Given the description of an element on the screen output the (x, y) to click on. 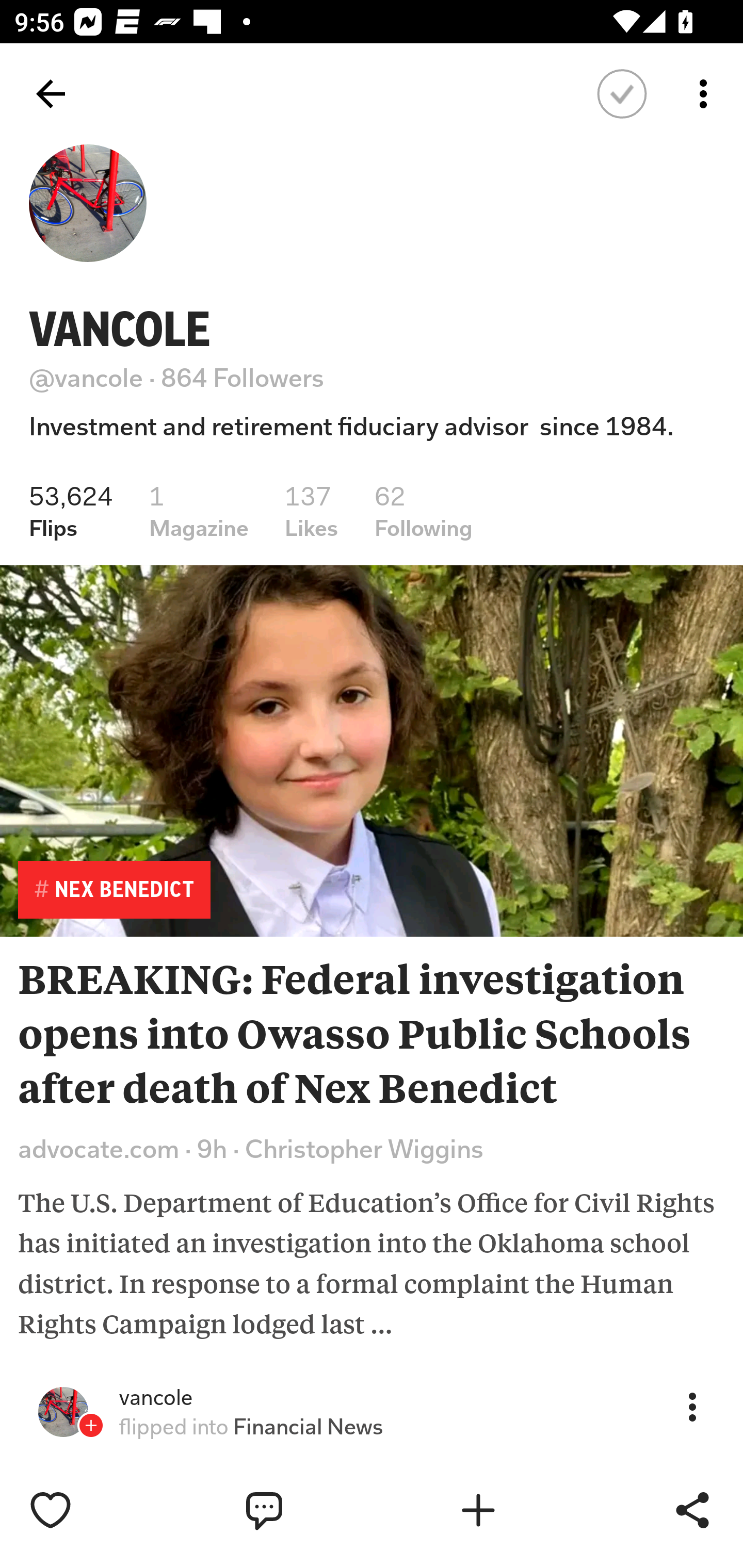
Back (50, 93)
More options (706, 93)
Following (622, 93)
VANCOLE (119, 328)
@vancole (85, 377)
864 Followers (242, 377)
53,624 Flips (70, 510)
1 Magazine (198, 510)
137 Likes (311, 510)
62 Following (423, 510)
# NEX BENEDICT (113, 889)
More (692, 1406)
vancole (155, 1397)
flipped into Financial News (250, 1426)
Like (93, 1509)
Write a comment… (307, 1509)
Flip into Magazine (521, 1509)
Share (692, 1509)
